Given the description of an element on the screen output the (x, y) to click on. 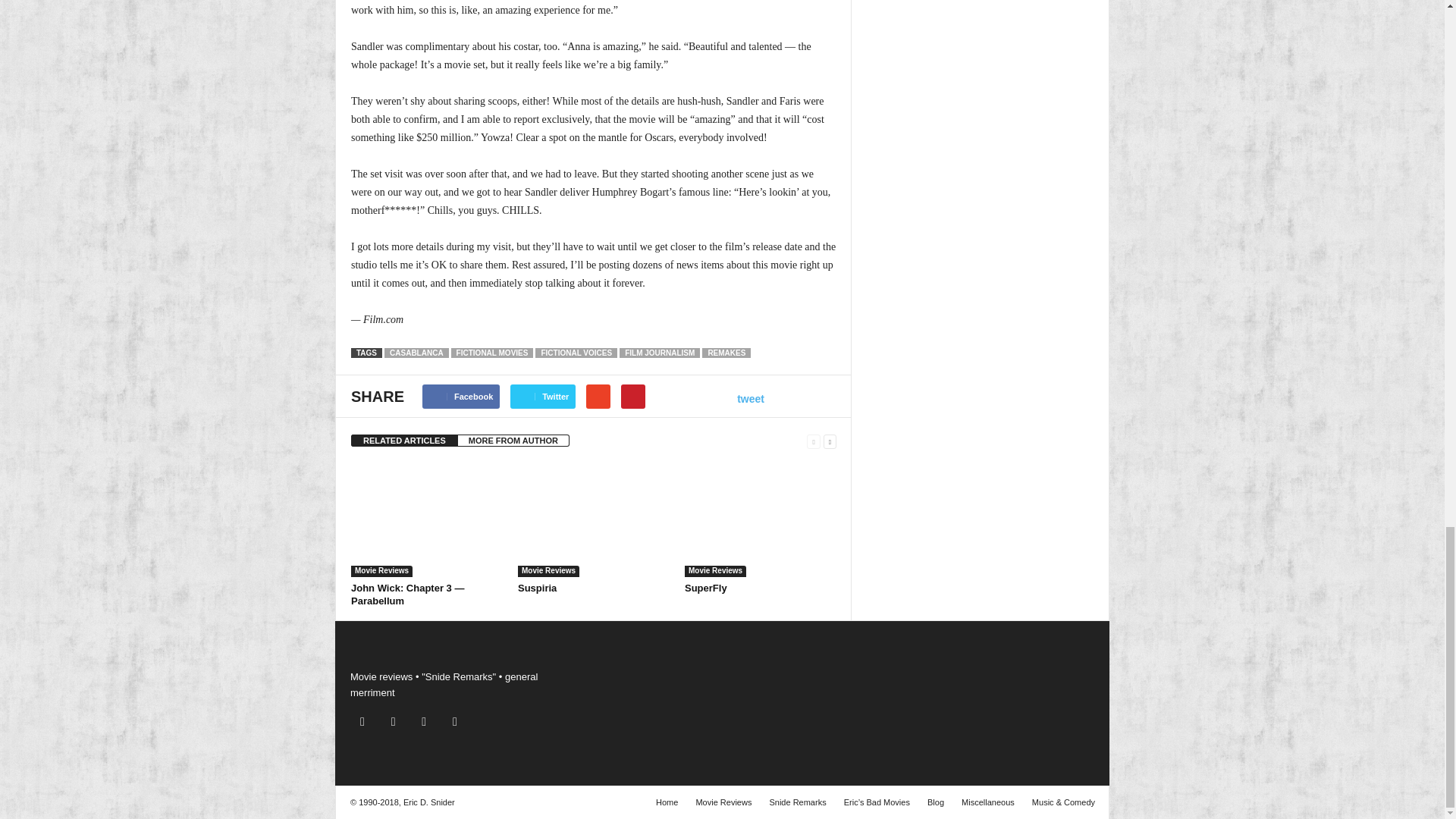
Instagram (365, 722)
SuperFly (705, 587)
Suspiria (593, 520)
SuperFly (759, 520)
Mail (396, 722)
Suspiria (537, 587)
